Given the description of an element on the screen output the (x, y) to click on. 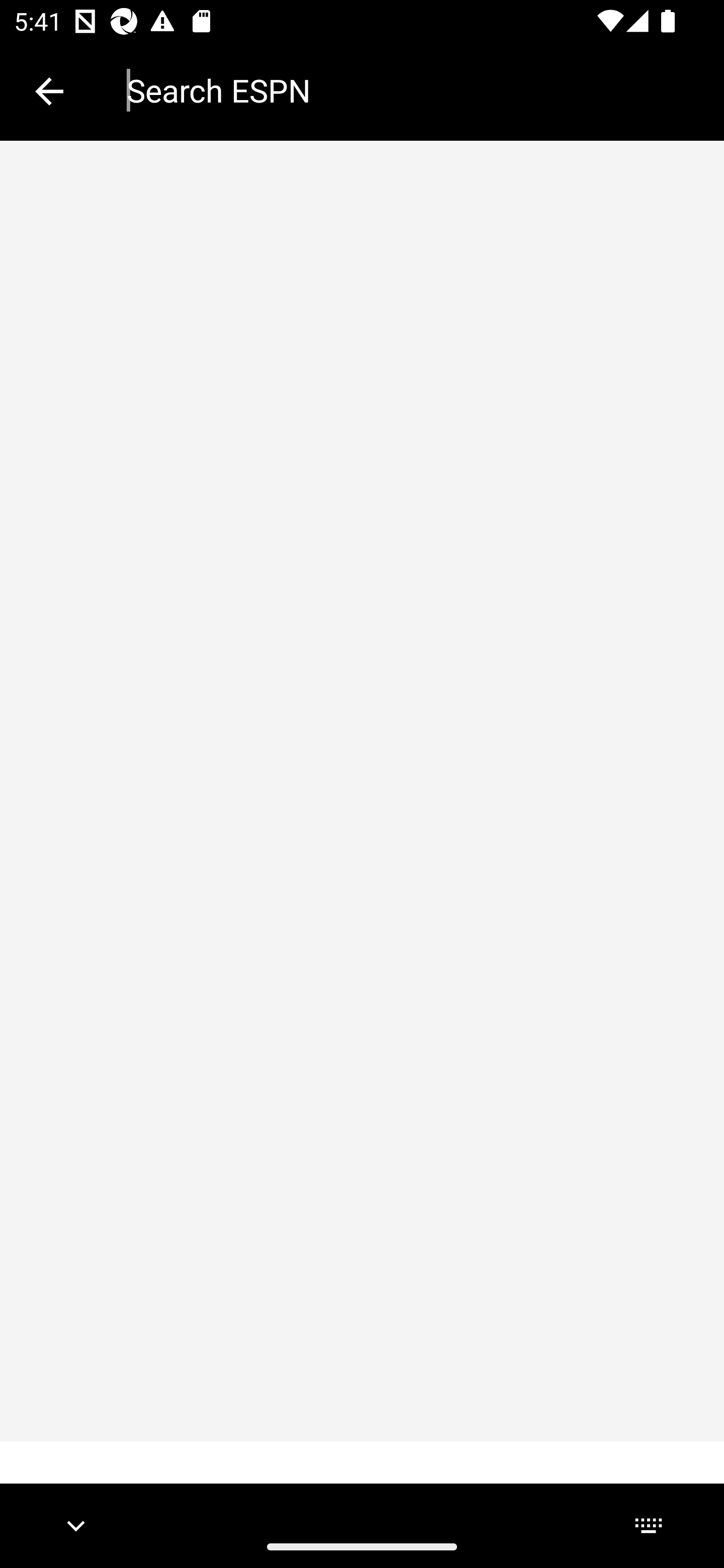
Collapse (49, 91)
Search ESPN (411, 90)
